Given the description of an element on the screen output the (x, y) to click on. 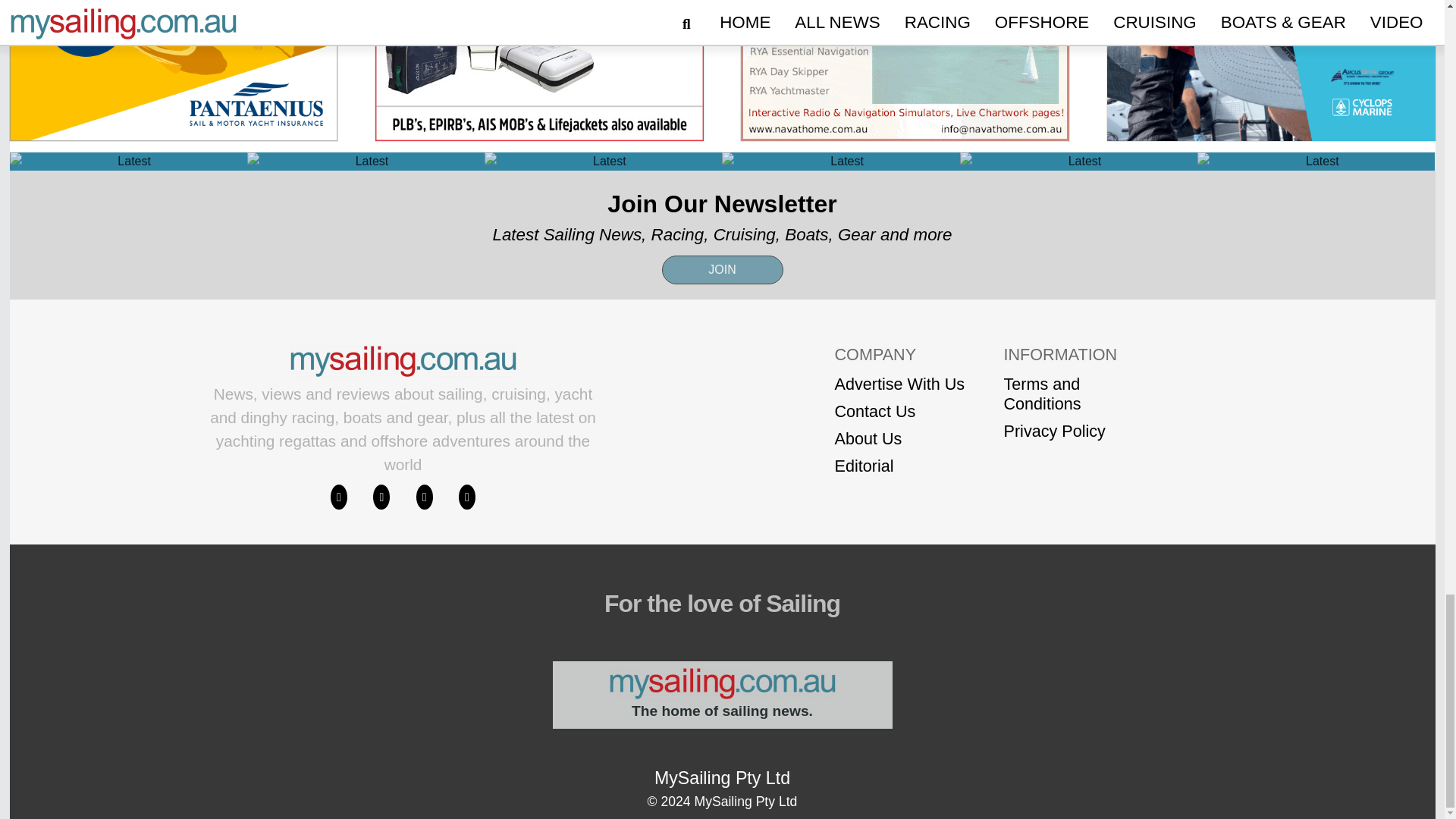
Advertise With Us (899, 383)
Contact Us (899, 410)
About Us (899, 437)
Editorial (899, 465)
